Given the description of an element on the screen output the (x, y) to click on. 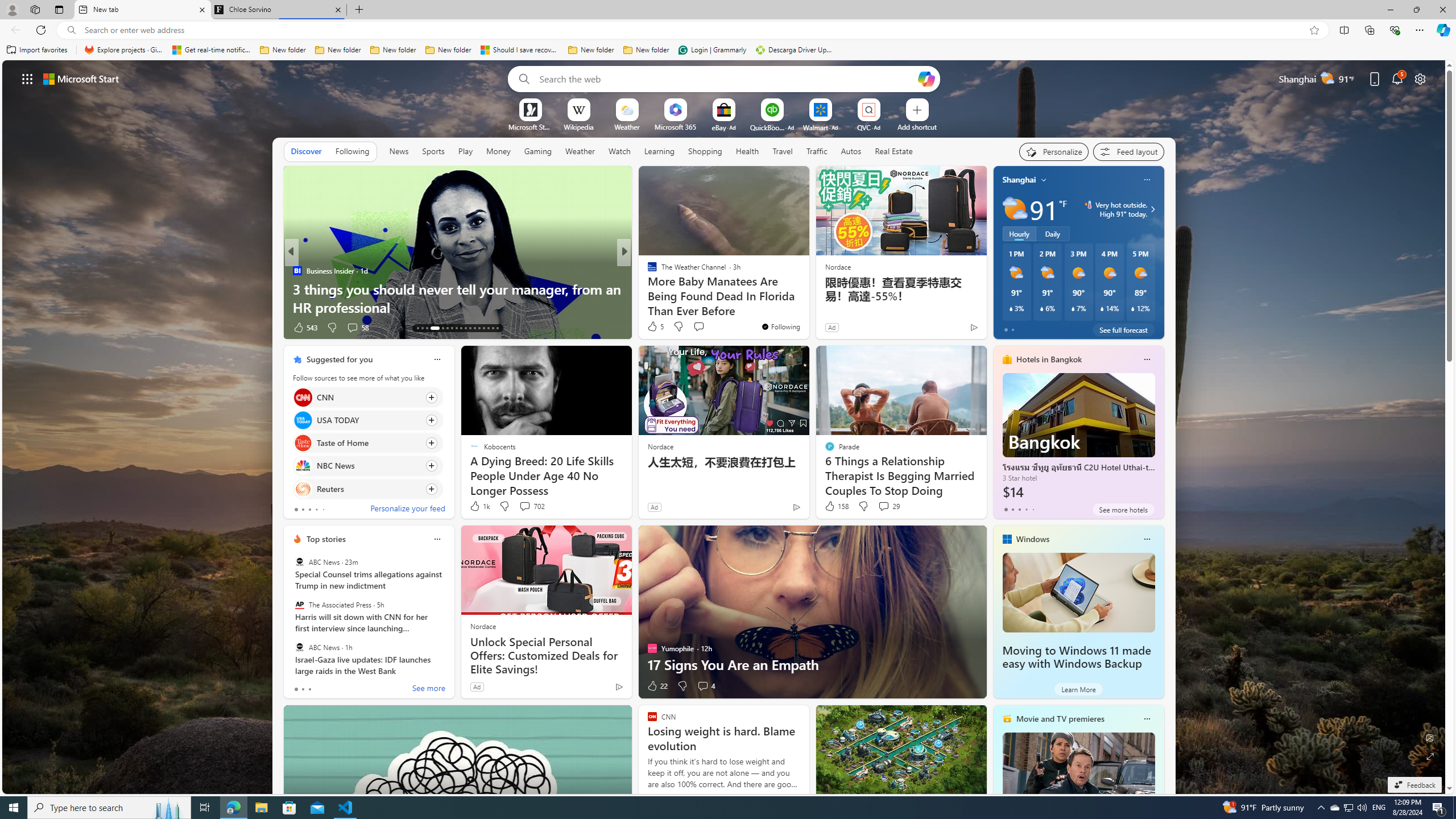
My location (1043, 179)
AutomationID: tab-42 (497, 328)
Class: icon-img (1146, 718)
AutomationID: tab-17 (439, 328)
To get missing image descriptions, open the context menu. (529, 109)
Hide this story (597, 359)
Health (746, 151)
AutomationID: tab-25 (478, 328)
Click to follow source Taste of Home (367, 442)
Click to follow source CNN (367, 397)
